Given the description of an element on the screen output the (x, y) to click on. 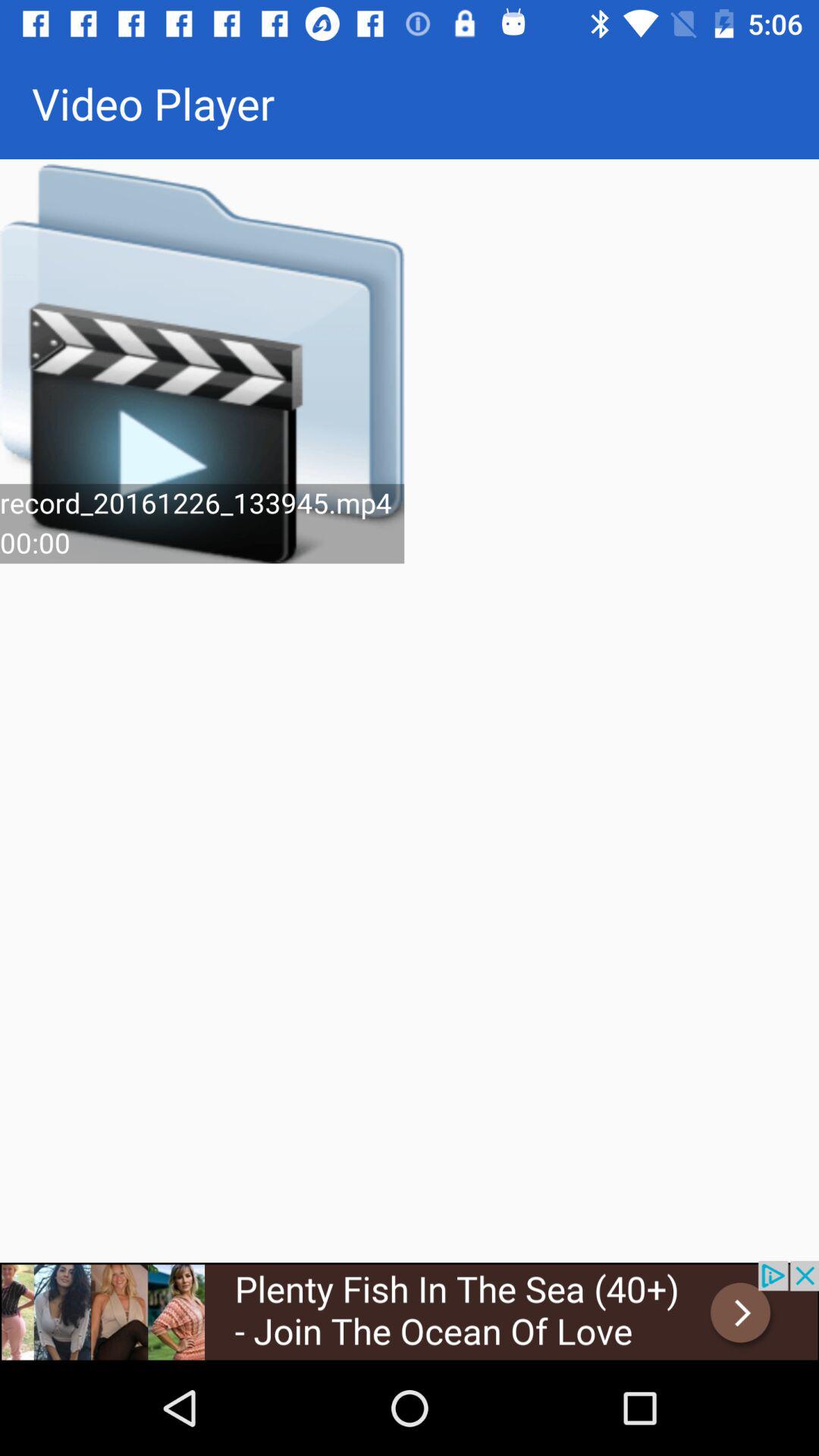
go to advertisement (409, 1310)
